Given the description of an element on the screen output the (x, y) to click on. 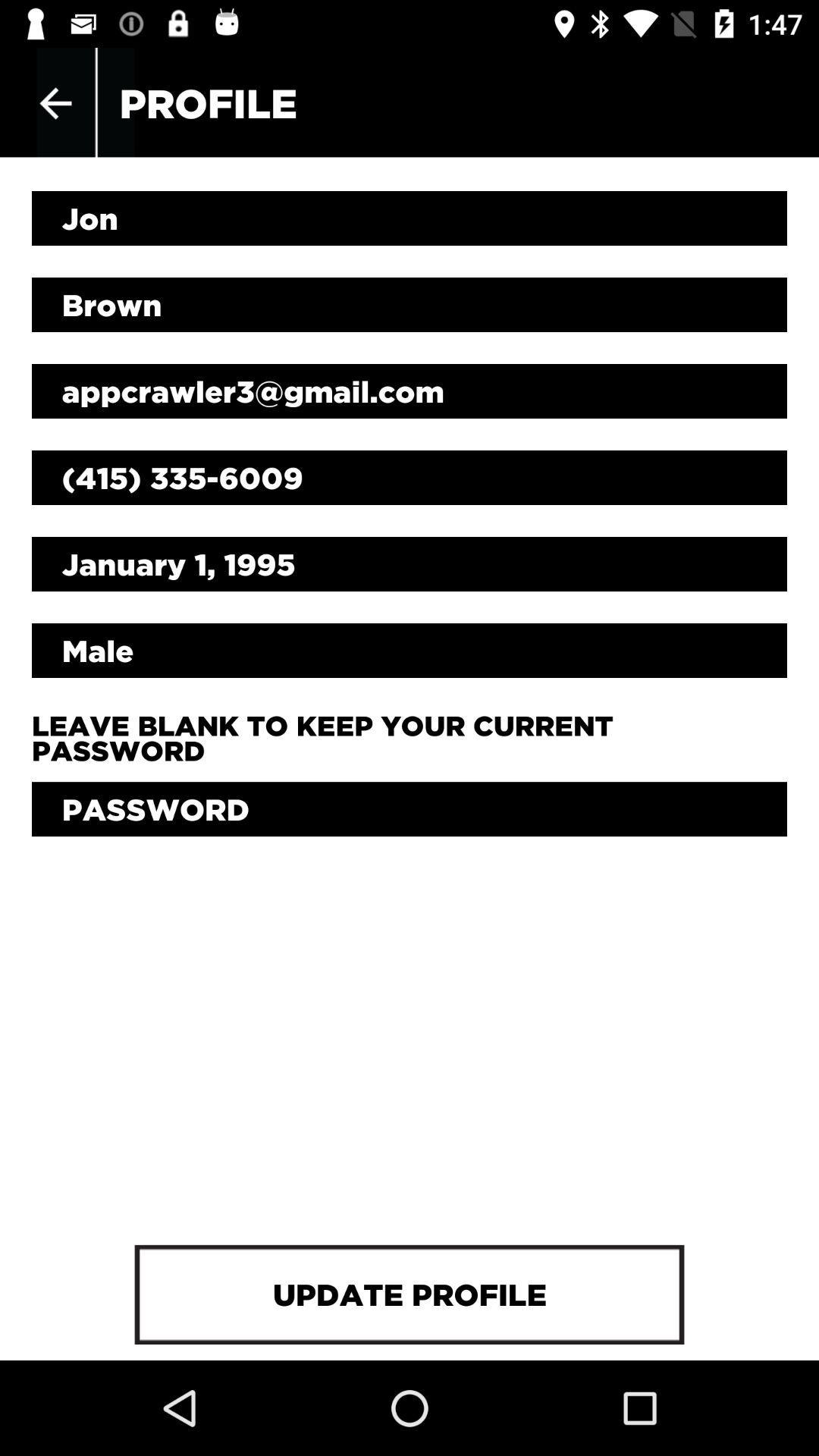
choose icon above the leave blank to item (409, 650)
